Given the description of an element on the screen output the (x, y) to click on. 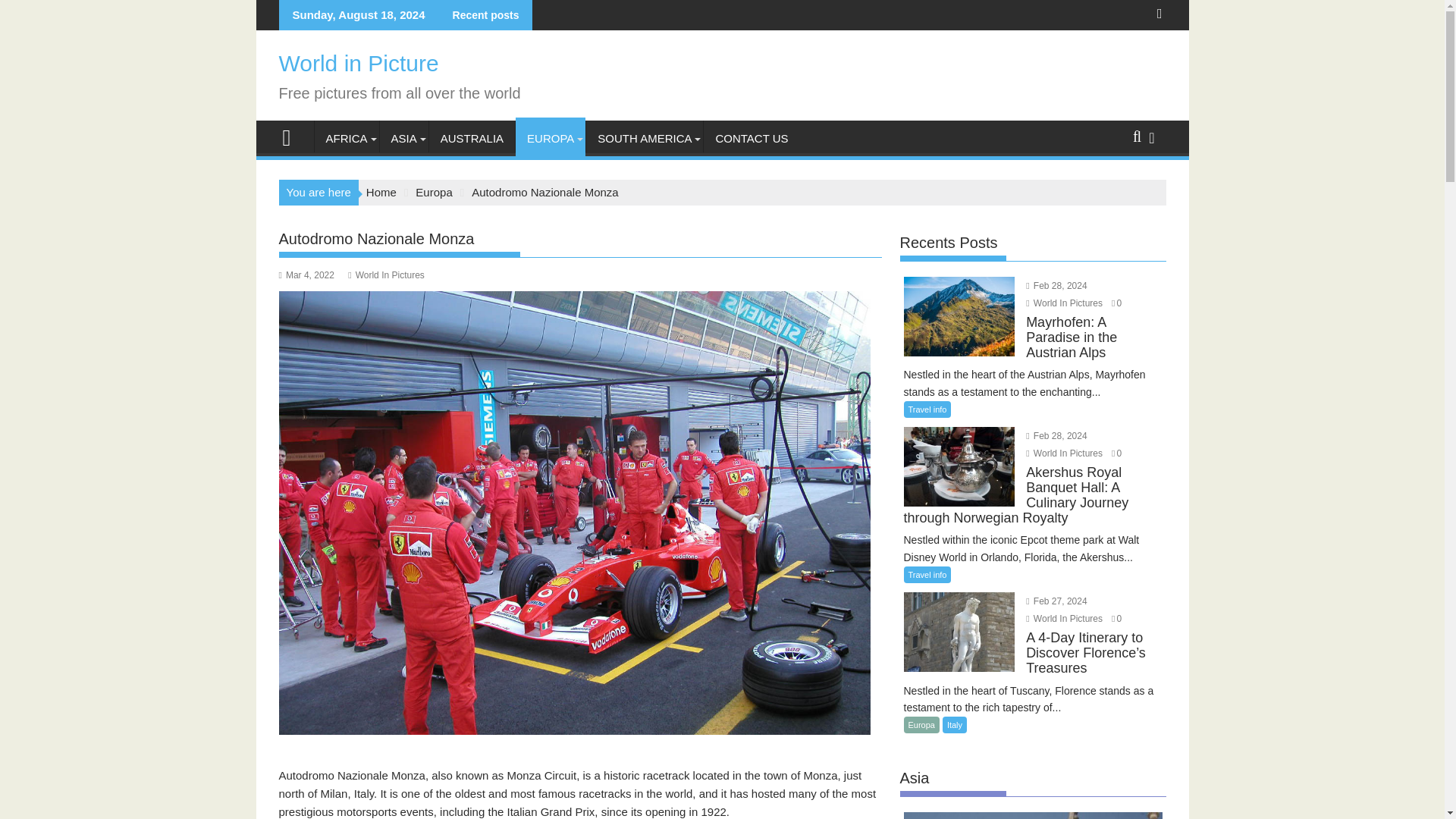
Mar 4, 2022 (306, 275)
World in Picture (293, 136)
AFRICA (346, 138)
EUROPA (550, 138)
CONTACT US (751, 138)
SOUTH AMERICA (644, 138)
Europa (432, 192)
Home (381, 192)
ASIA (404, 138)
World in Picture (359, 63)
